Given the description of an element on the screen output the (x, y) to click on. 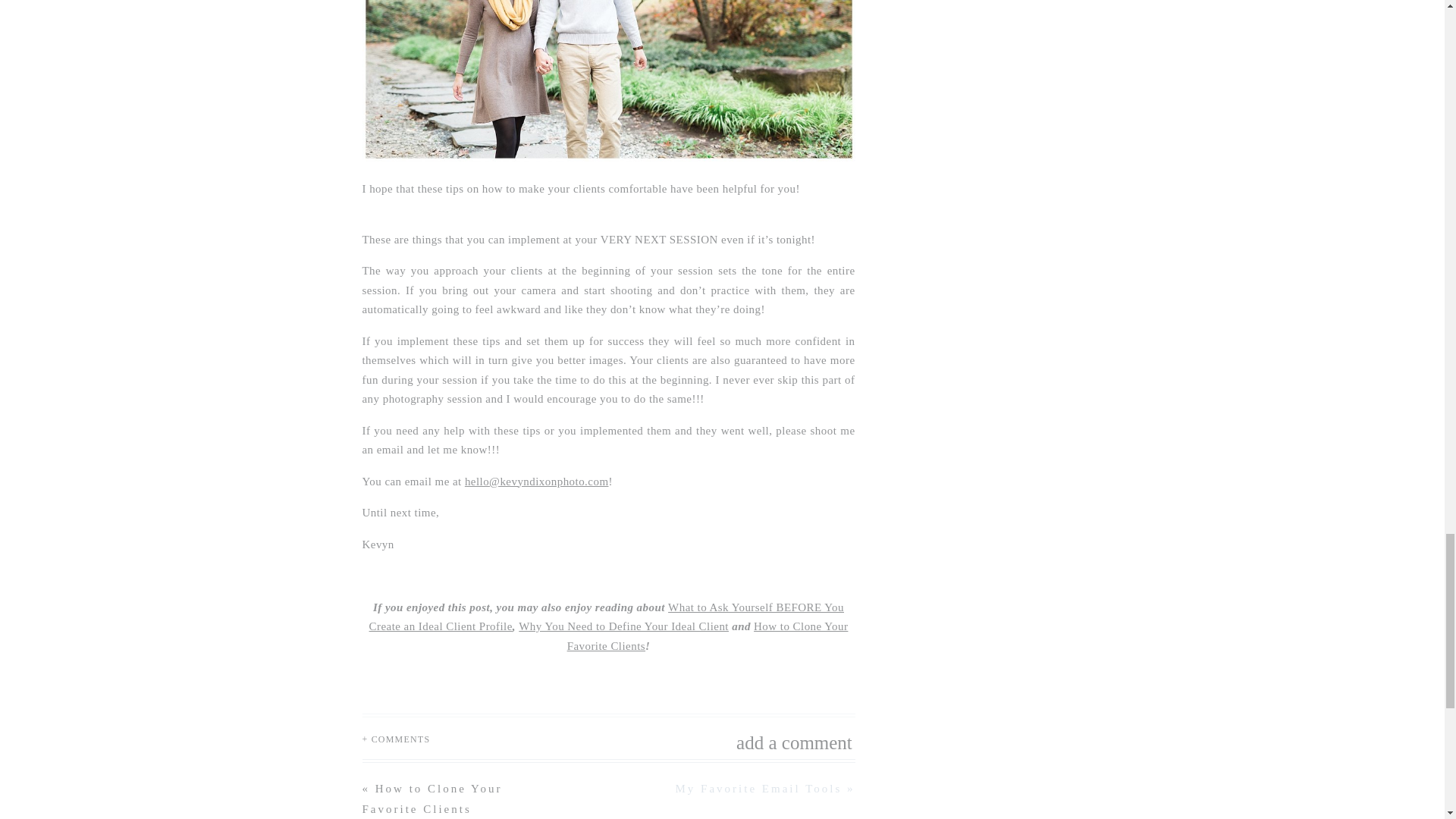
add a comment (752, 738)
How to Clone Your Favorite Clients (432, 798)
Why You Need to Define Your Ideal Client (623, 625)
How to Clone Your Favorite Clients (707, 635)
